Given the description of an element on the screen output the (x, y) to click on. 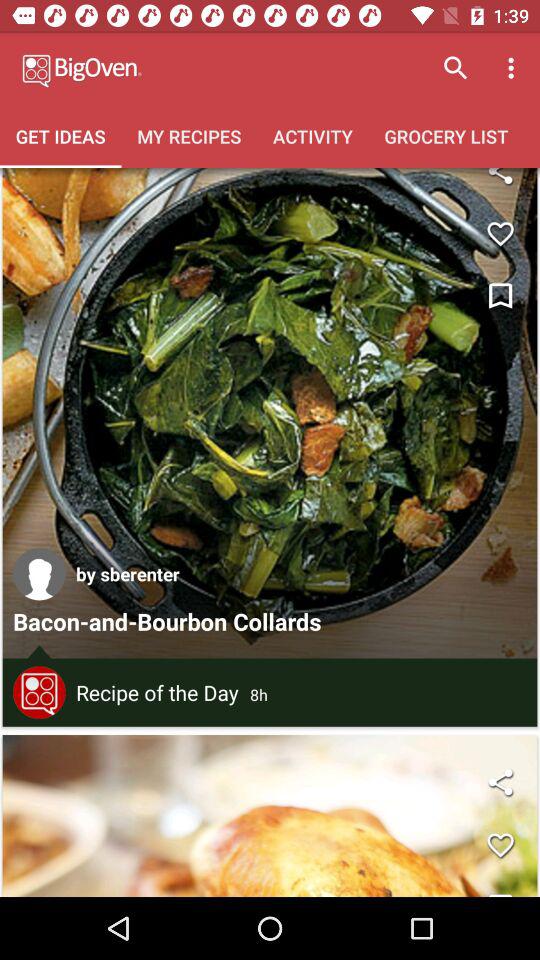
bookmark recipe (500, 296)
